Given the description of an element on the screen output the (x, y) to click on. 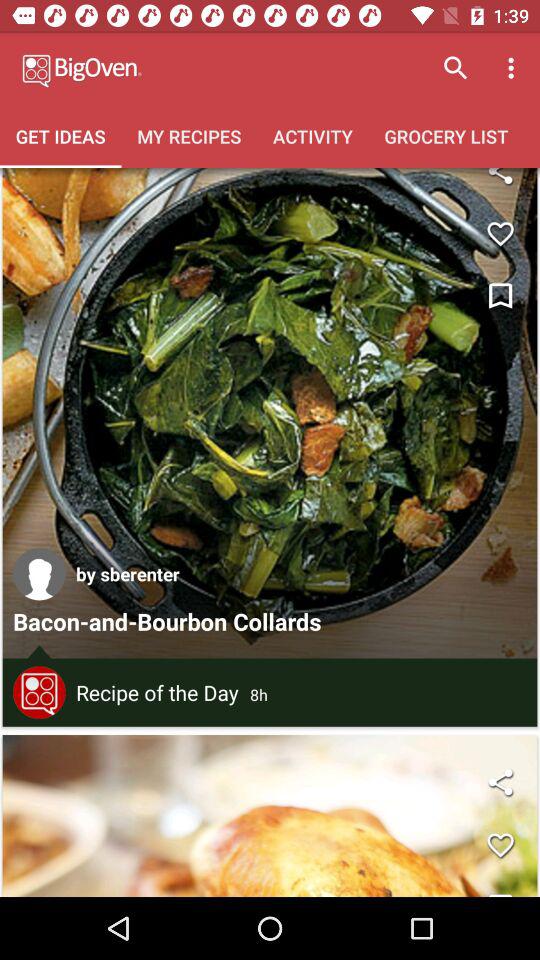
bookmark recipe (500, 296)
